Given the description of an element on the screen output the (x, y) to click on. 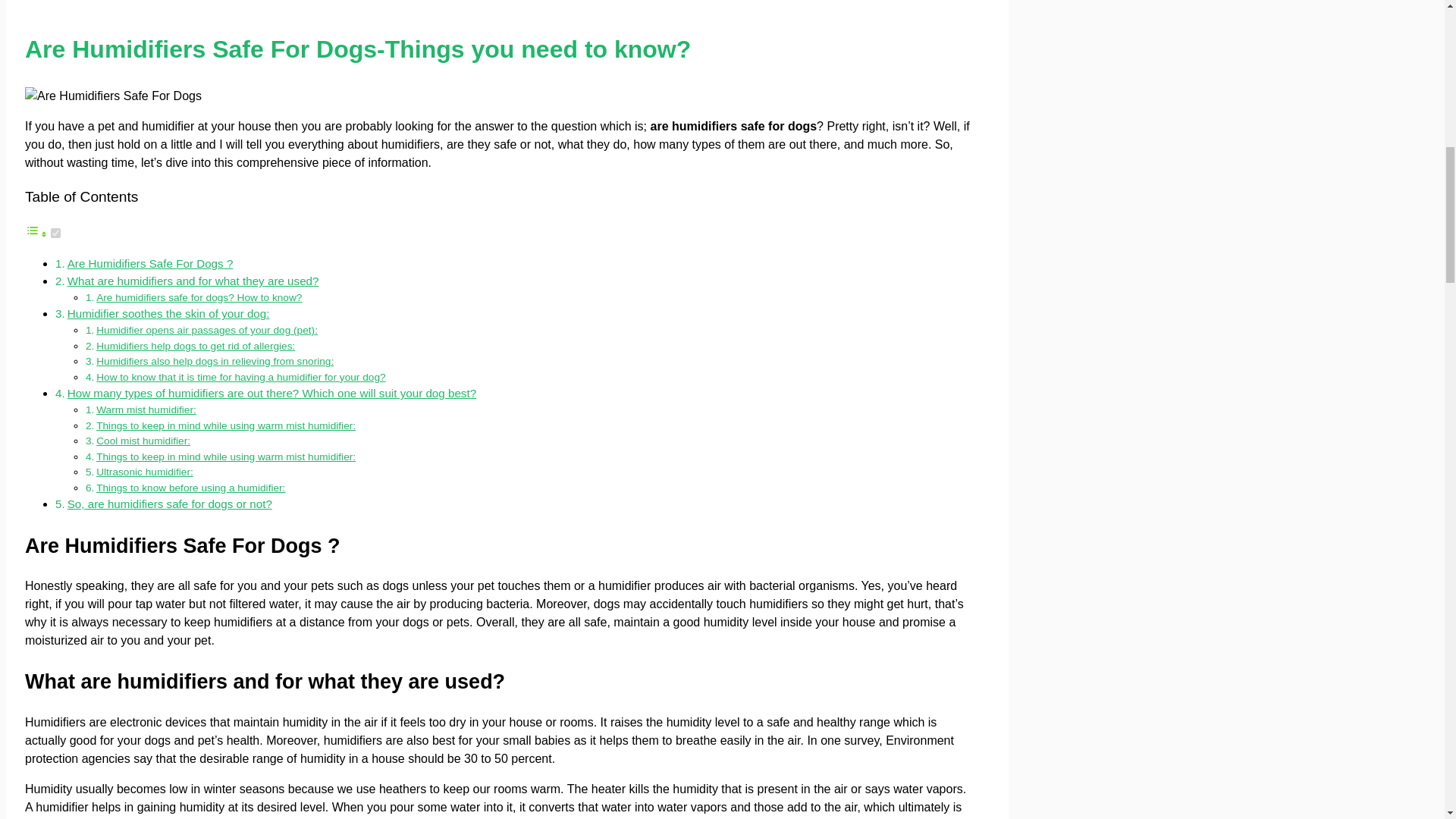
Are humidifiers safe for dogs? How to know? (198, 297)
Humidifier soothes the skin of your dog: (167, 313)
What are humidifiers and for what they are used? (192, 280)
Humidifiers help dogs to get rid of allergies: (195, 346)
Are Humidifiers Safe For Dogs ? (149, 263)
Are Humidifiers Safe For Dogs ? (149, 263)
Humidifier soothes the skin of your dog: (167, 313)
So, are humidifiers safe for dogs or not? (169, 503)
Things to keep in mind while using warm mist humidifier: (225, 456)
Humidifiers also help dogs in relieving from snoring: (214, 360)
Humidifiers help dogs to get rid of allergies: (195, 346)
Cool mist humidifier: (143, 440)
Ultrasonic humidifier: (144, 471)
